Given the description of an element on the screen output the (x, y) to click on. 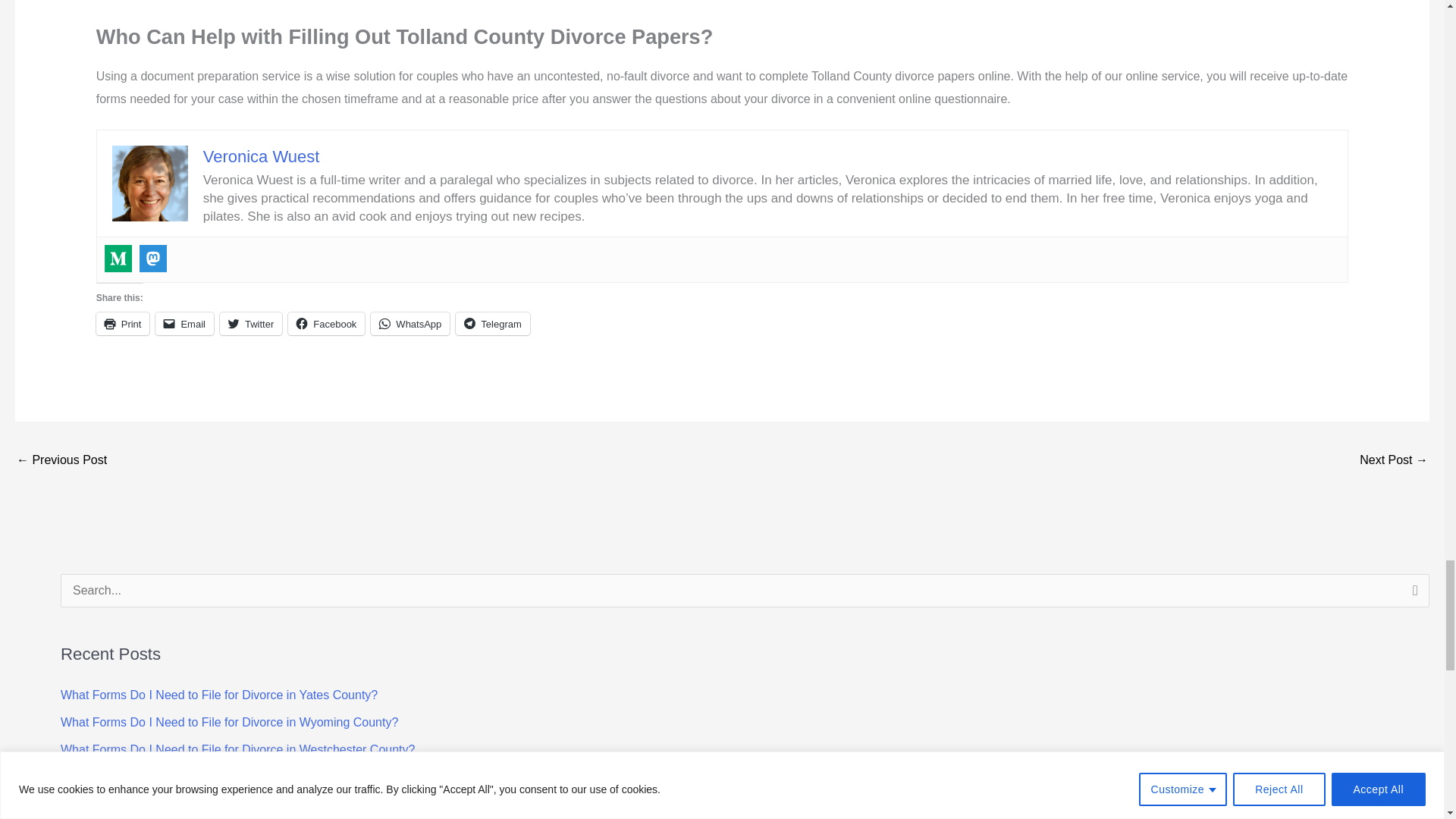
Click to share on WhatsApp (410, 323)
Click to print (122, 323)
Medium (118, 257)
Click to share on Facebook (326, 323)
Click to email a link to a friend (184, 323)
Click to share on Twitter (250, 323)
Mastodont (153, 257)
